Given the description of an element on the screen output the (x, y) to click on. 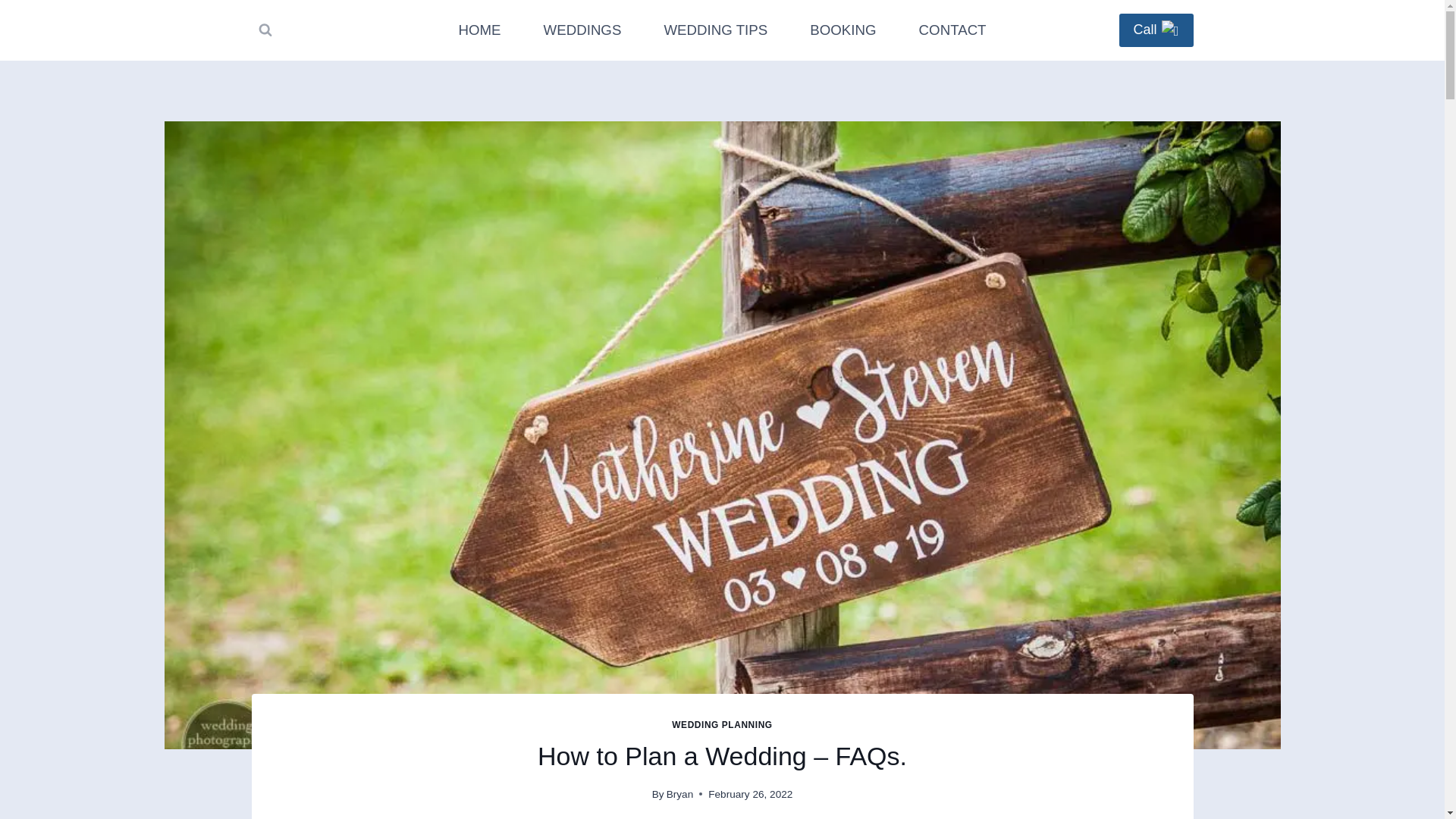
WEDDING TIPS (715, 30)
Call (1155, 30)
WEDDING PLANNING (721, 724)
Bryan (680, 794)
BOOKING (842, 30)
HOME (478, 30)
CONTACT (952, 30)
WEDDINGS (582, 30)
